Given the description of an element on the screen output the (x, y) to click on. 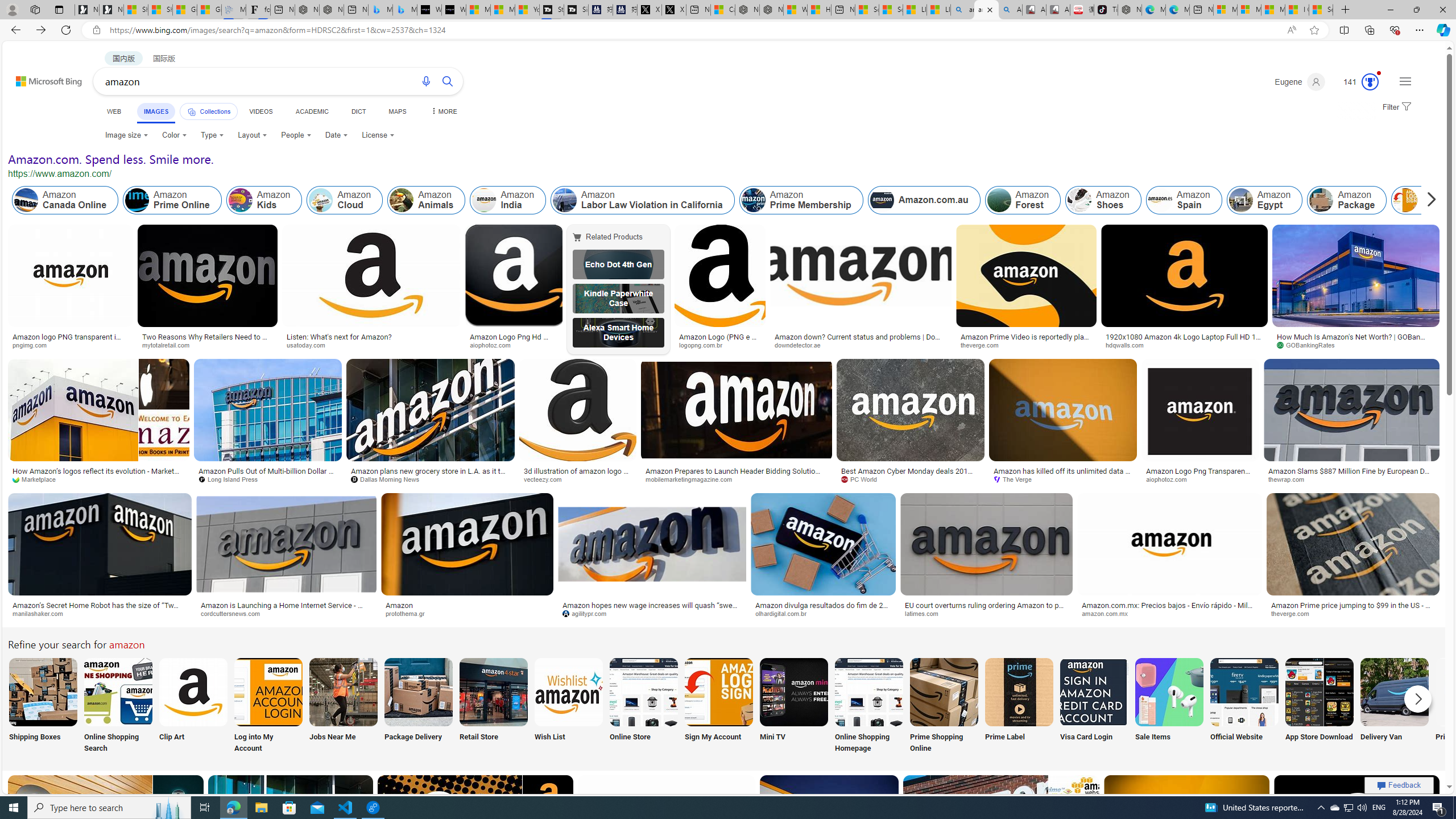
aiophotoz.com (1200, 479)
